Given the description of an element on the screen output the (x, y) to click on. 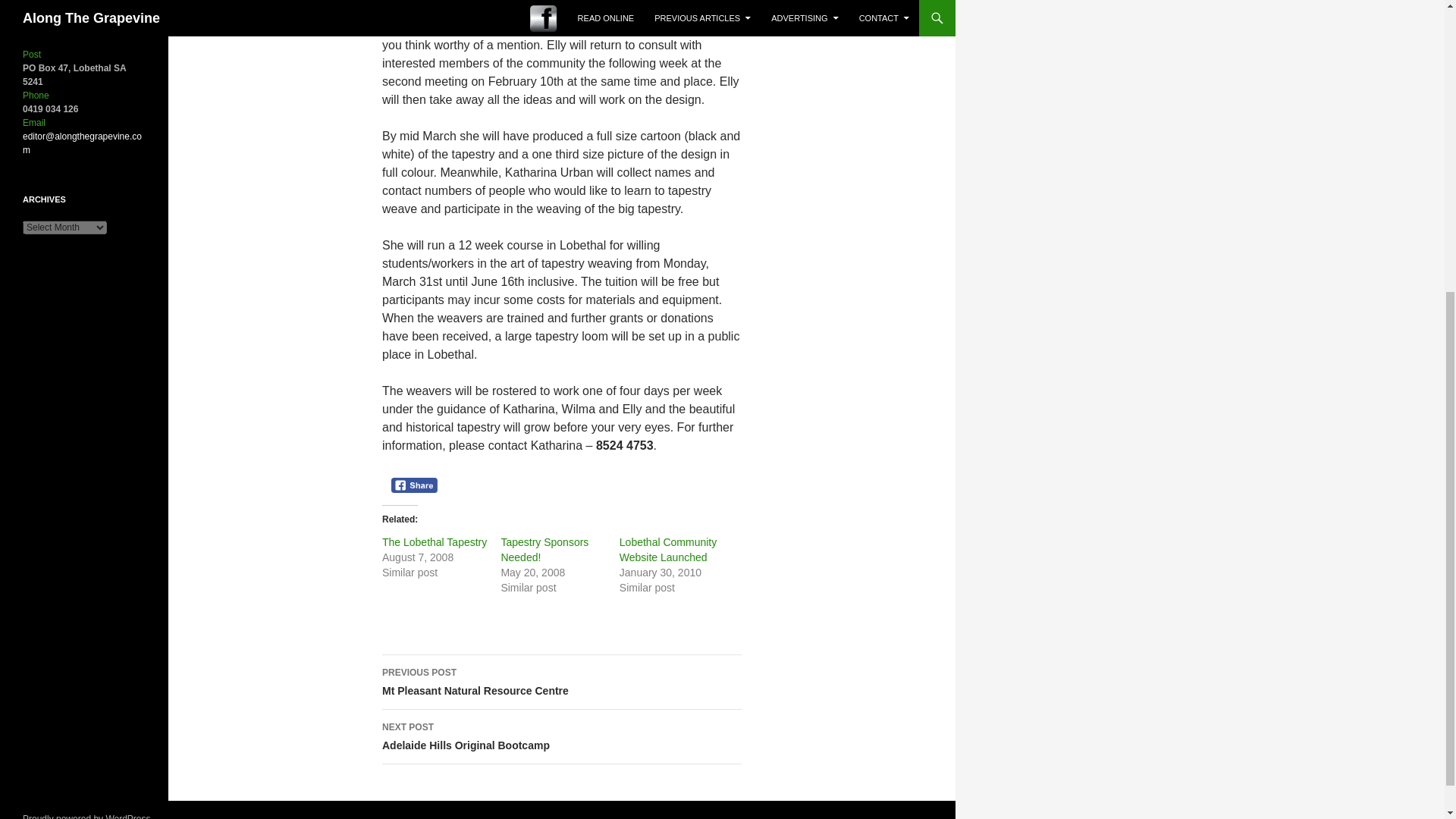
The Lobethal Tapestry (433, 541)
Facebook Share (414, 485)
Tapestry Sponsors Needed! (544, 549)
Lobethal Community Website Launched (561, 737)
The Lobethal Tapestry (668, 549)
Lobethal Community Website Launched (433, 541)
Tapestry Sponsors Needed! (561, 682)
